Given the description of an element on the screen output the (x, y) to click on. 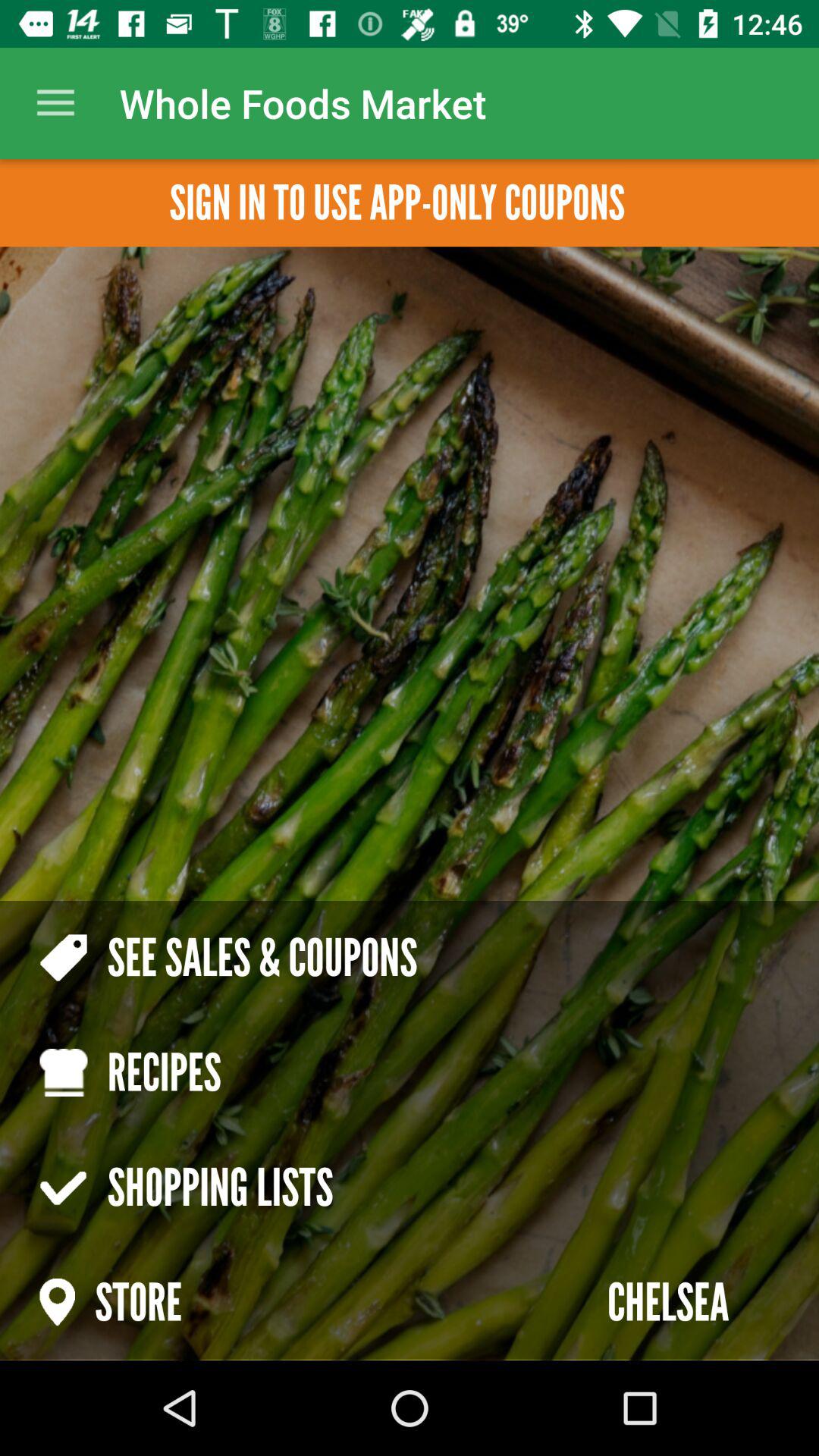
turn on the icon above the see sales & coupons item (397, 202)
